Given the description of an element on the screen output the (x, y) to click on. 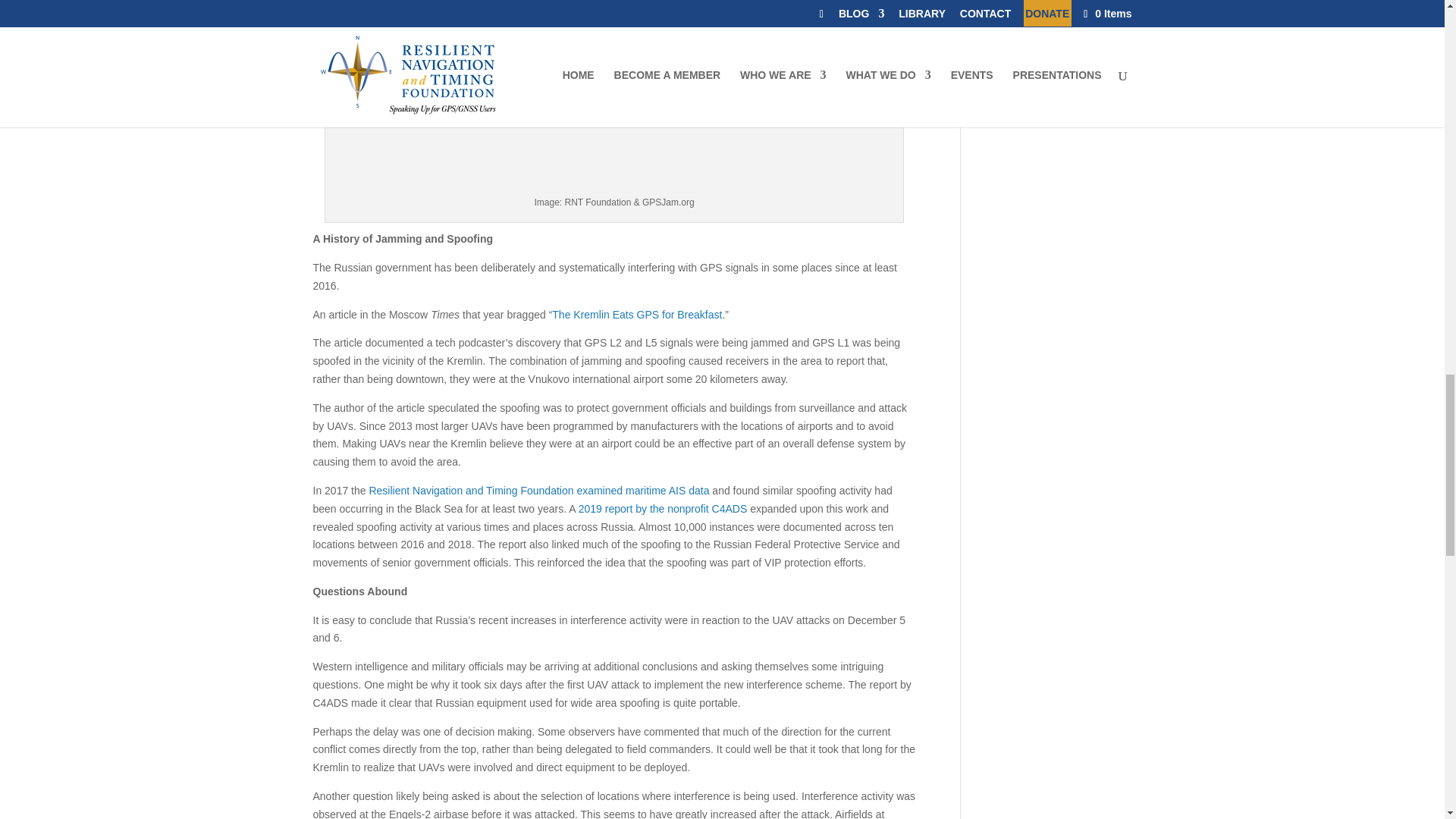
The Kremlin Eats GPS for Breakfast (636, 314)
2019 report by the nonprofit C4ADS (663, 508)
